Given the description of an element on the screen output the (x, y) to click on. 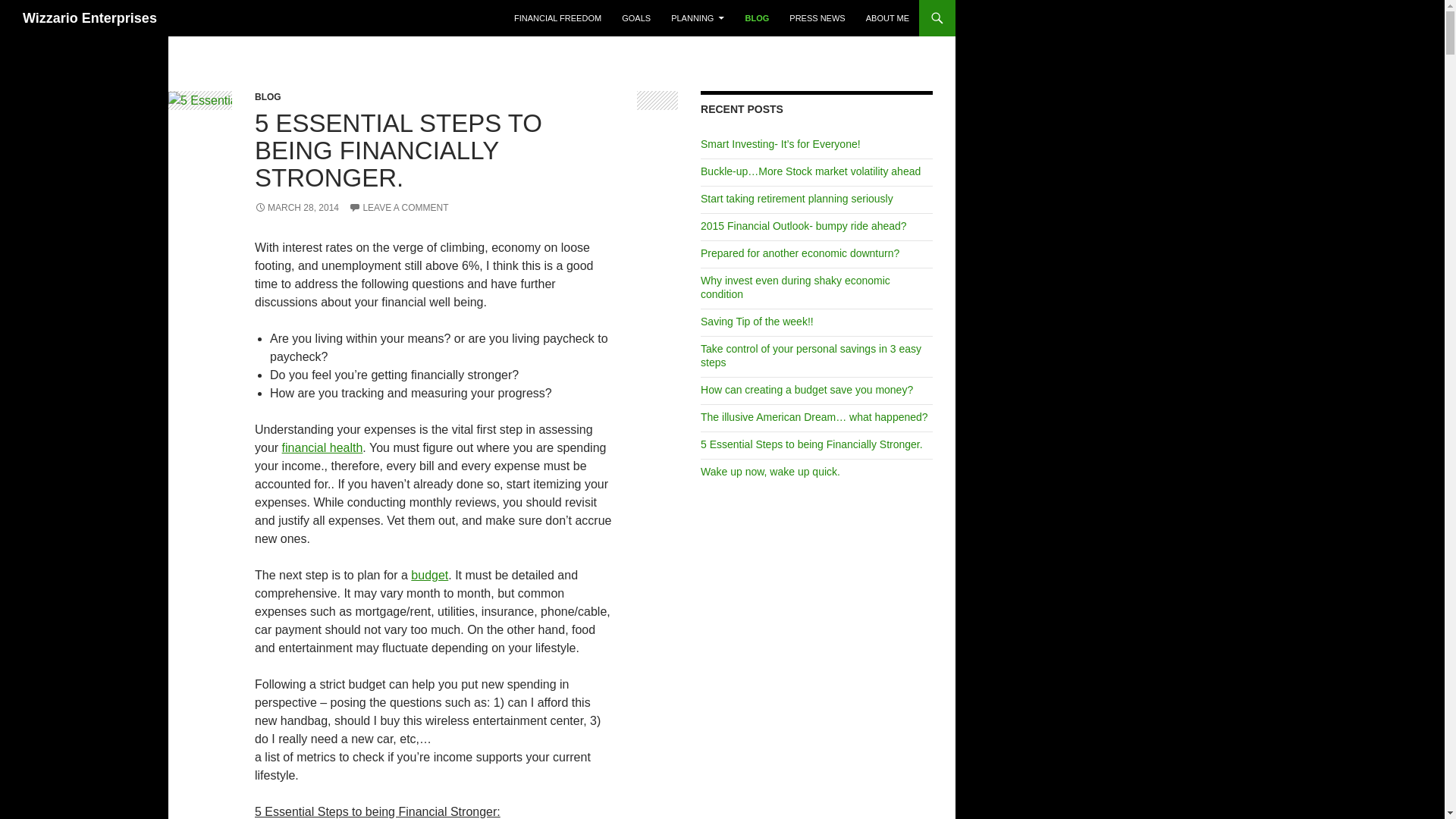
PLANNING (697, 18)
MARCH 28, 2014 (296, 207)
LEAVE A COMMENT (398, 207)
ABOUT ME (887, 18)
BLOG (756, 18)
budget (429, 574)
financial health (322, 447)
Investopedia (322, 447)
PRESS NEWS (816, 18)
5 ESSENTIAL STEPS TO BEING FINANCIALLY STRONGER. (397, 149)
BLOG (267, 96)
Wizzario Enterprises (90, 18)
Budget (429, 574)
FINANCIAL FREEDOM (557, 18)
GOALS (635, 18)
